Given the description of an element on the screen output the (x, y) to click on. 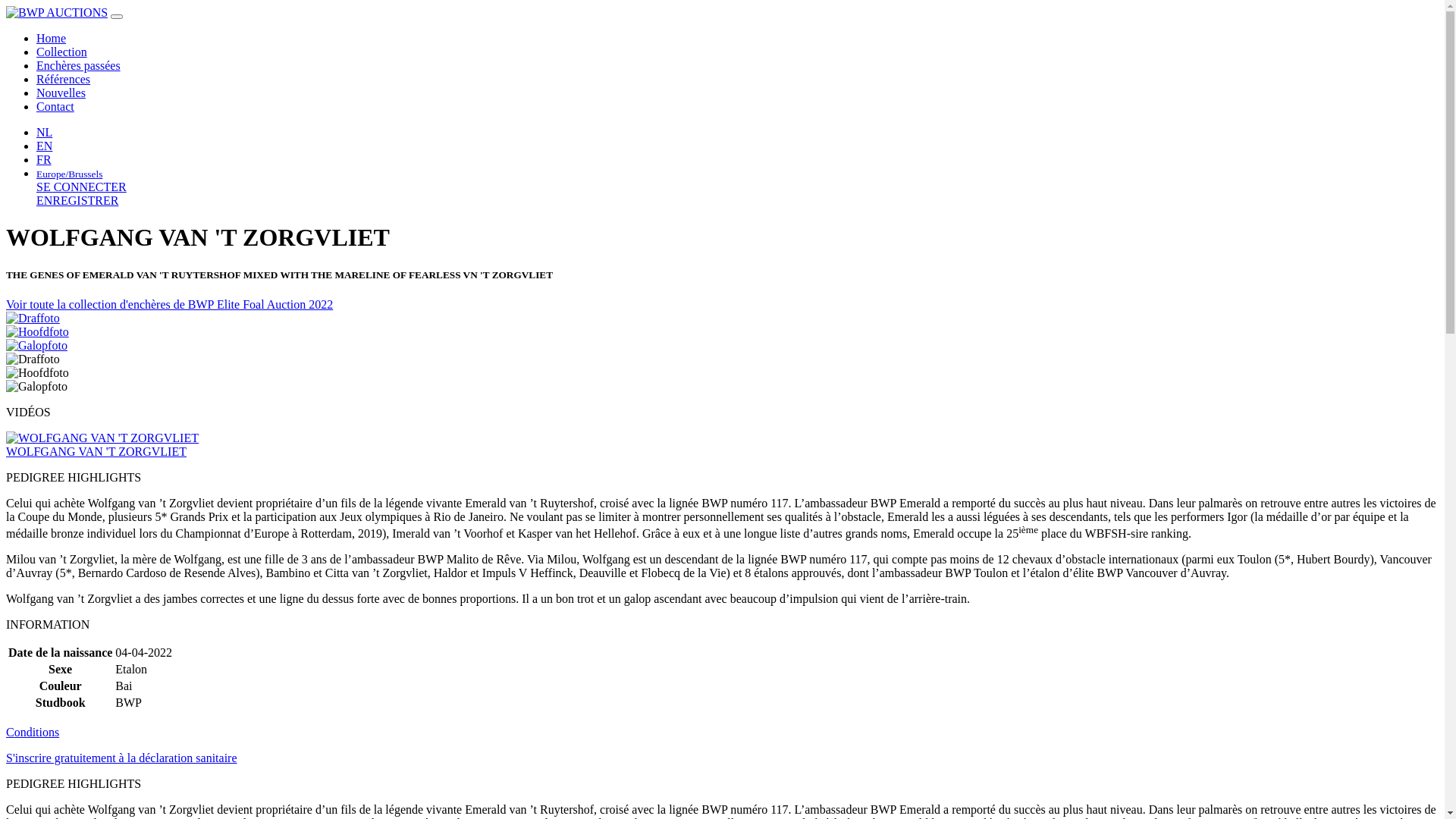
Europe/Brussels Element type: text (69, 172)
Contact Element type: text (55, 106)
ENREGISTRER Element type: text (77, 200)
EN Element type: text (44, 145)
Conditions Element type: text (32, 731)
Home Element type: text (50, 37)
FR Element type: text (43, 159)
SE CONNECTER Element type: text (81, 186)
Nouvelles Element type: text (60, 92)
WOLFGANG VAN 'T ZORGVLIET Element type: text (102, 444)
Collection Element type: text (61, 51)
NL Element type: text (44, 131)
